Given the description of an element on the screen output the (x, y) to click on. 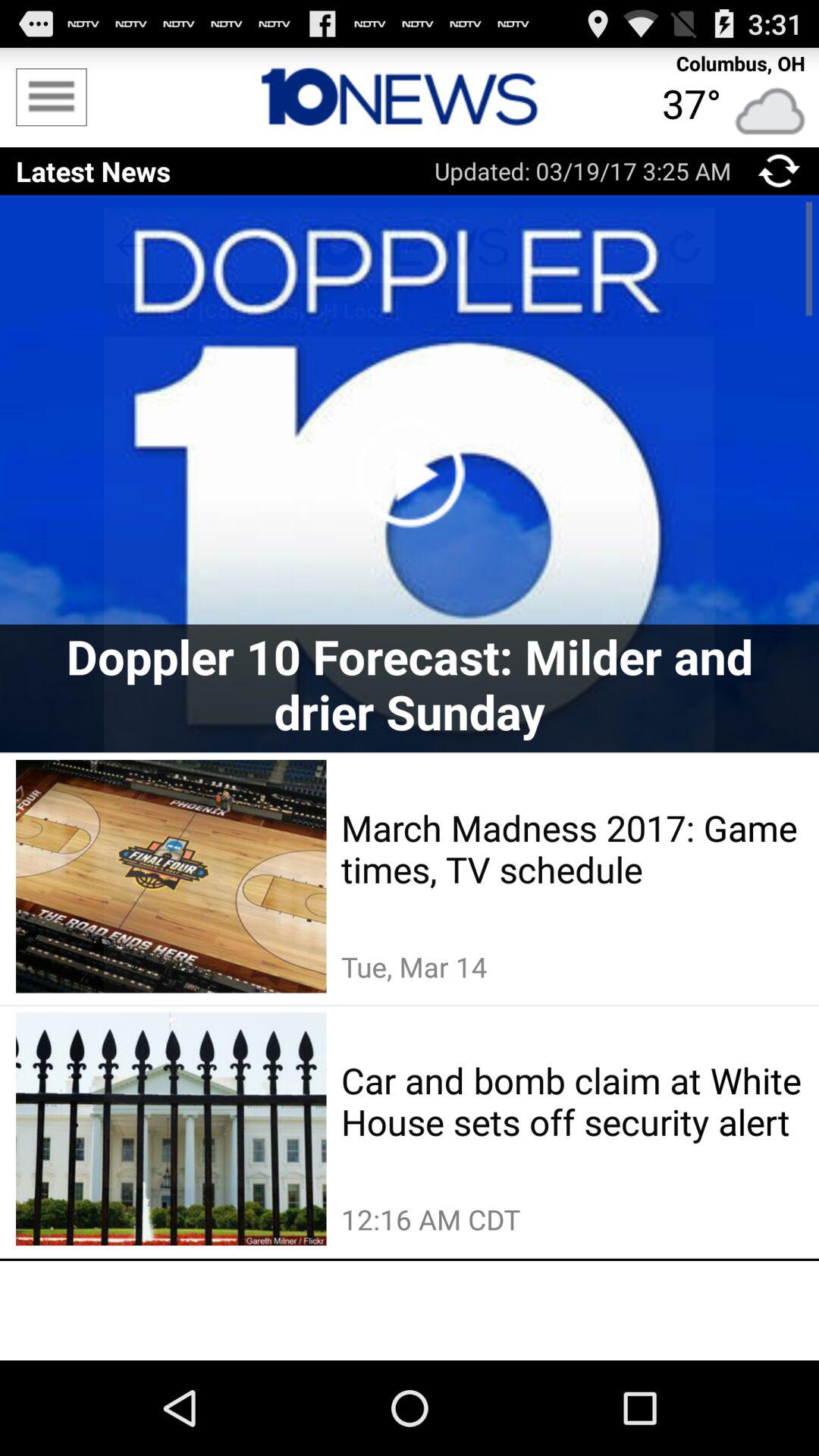
launch doppler 10 forecast item (409, 684)
